Given the description of an element on the screen output the (x, y) to click on. 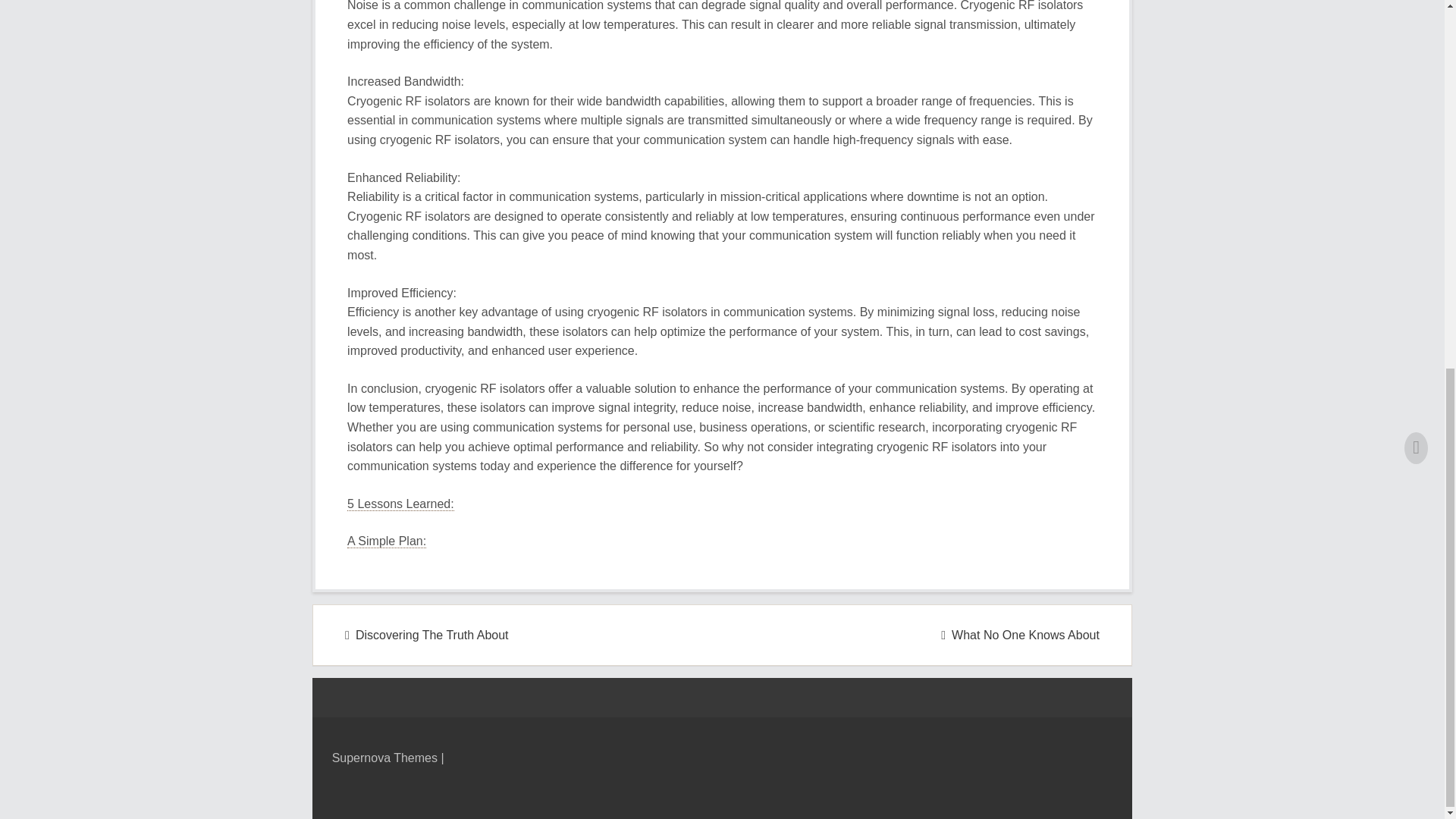
A Simple Plan: (386, 540)
What No One Knows About (1019, 635)
Discovering The Truth About (426, 635)
5 Lessons Learned: (400, 504)
